Given the description of an element on the screen output the (x, y) to click on. 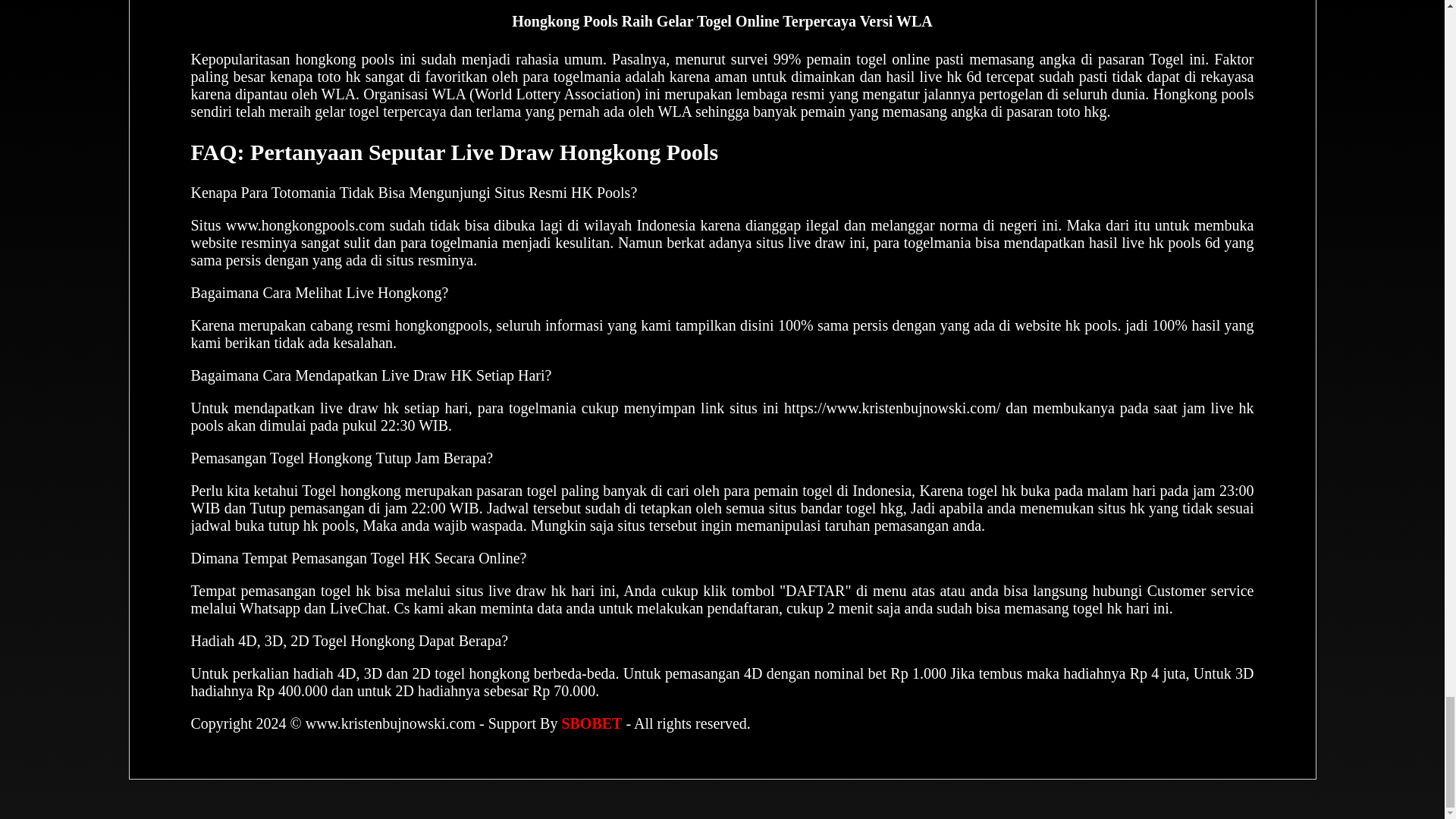
SBOBET (590, 723)
